Given the description of an element on the screen output the (x, y) to click on. 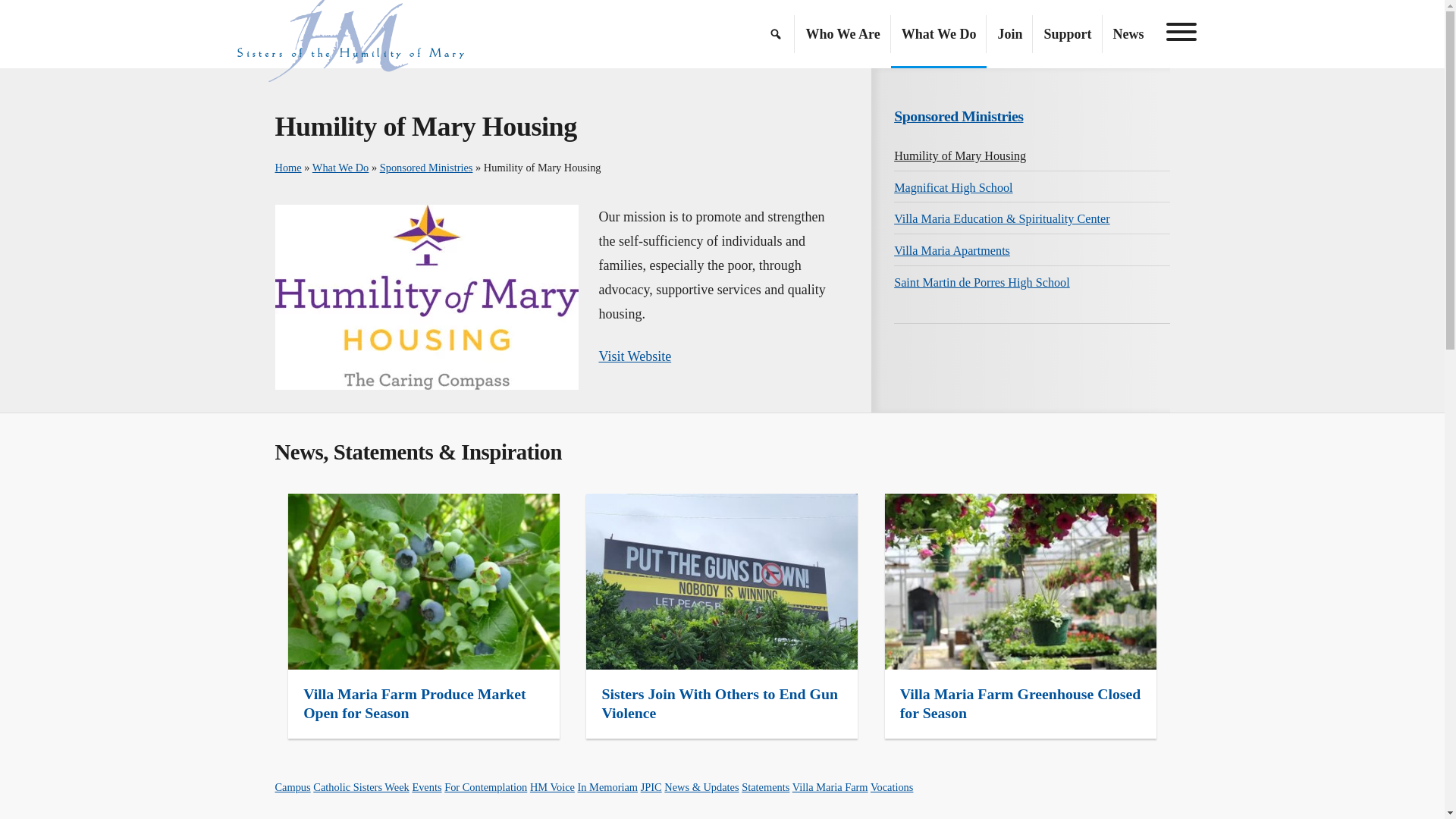
Support (1067, 33)
Go to Sisters of the Humility of Mary Home Page (349, 33)
What We Do (939, 33)
Who We Are (841, 33)
